Given the description of an element on the screen output the (x, y) to click on. 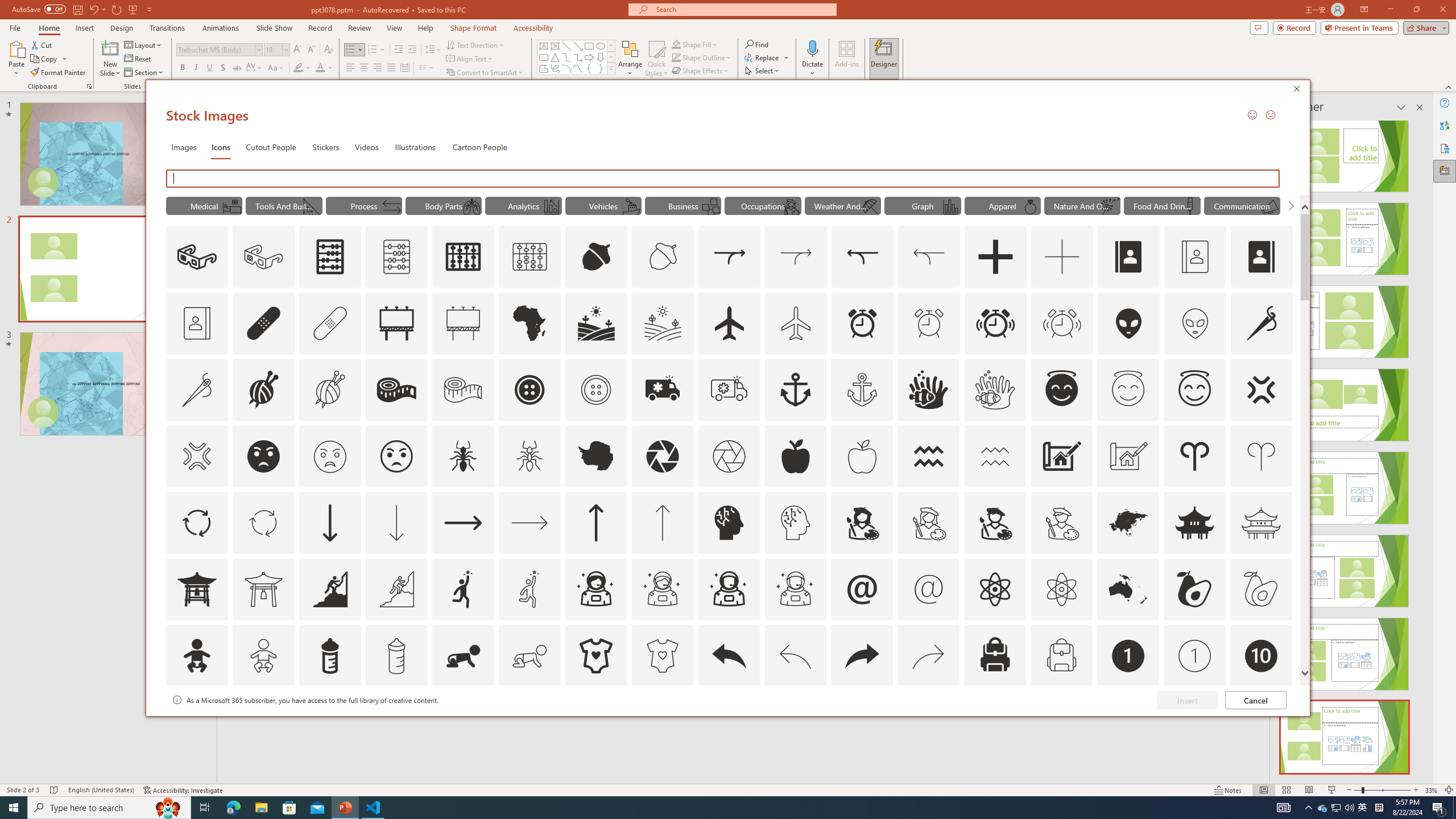
AutomationID: Icons_AddressBook_RTL_M (197, 323)
AutomationID: Icons_Airplane (729, 323)
AutomationID: Icons_Badge3 (395, 721)
"Body Parts" Icons. (443, 205)
Zoom 33% (1431, 790)
"Occupations" Icons. (762, 205)
AutomationID: Icons_ArrowUp_M (662, 522)
